Given the description of an element on the screen output the (x, y) to click on. 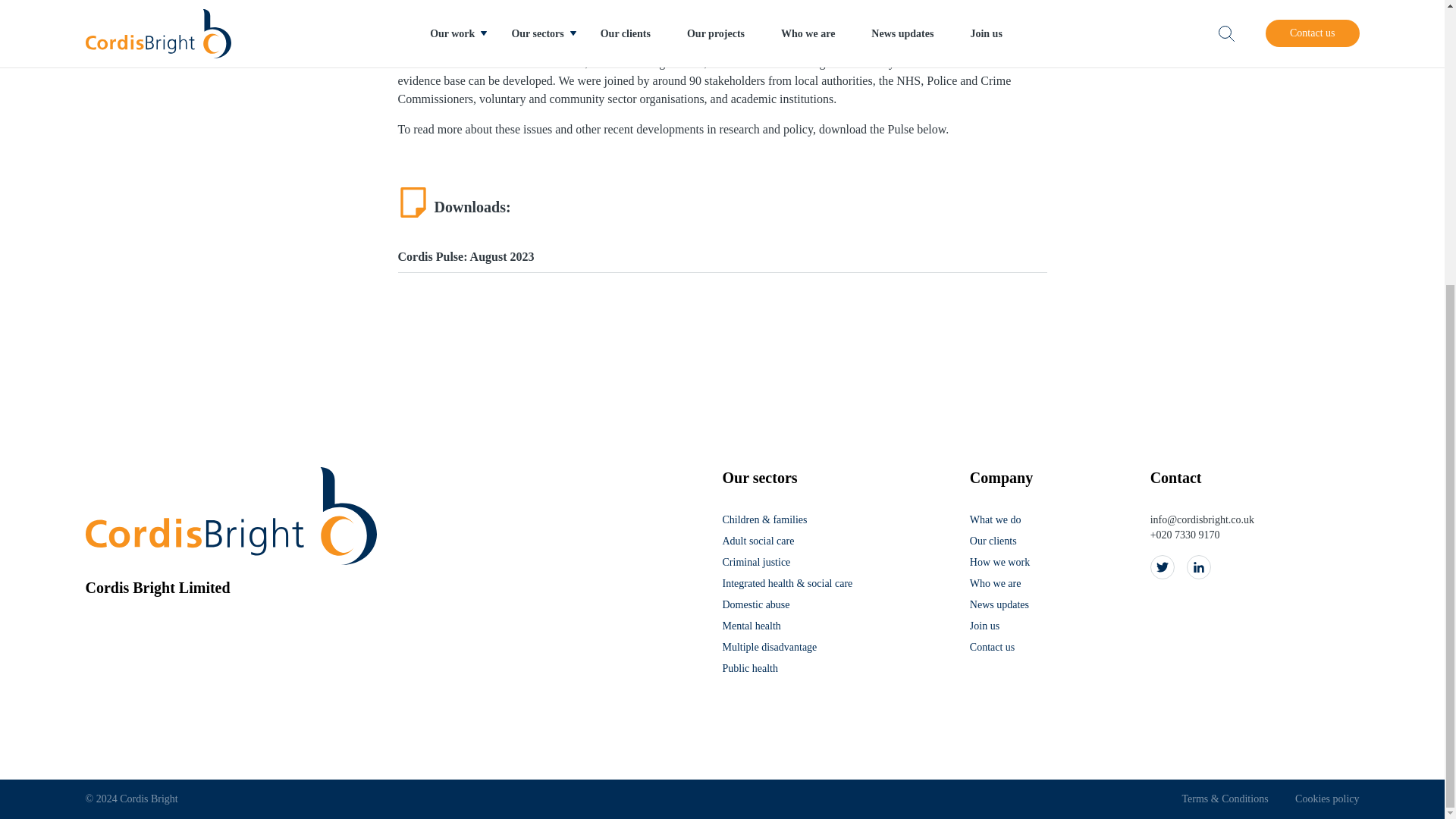
Cordis Pulse: August 2023 (721, 256)
